Given the description of an element on the screen output the (x, y) to click on. 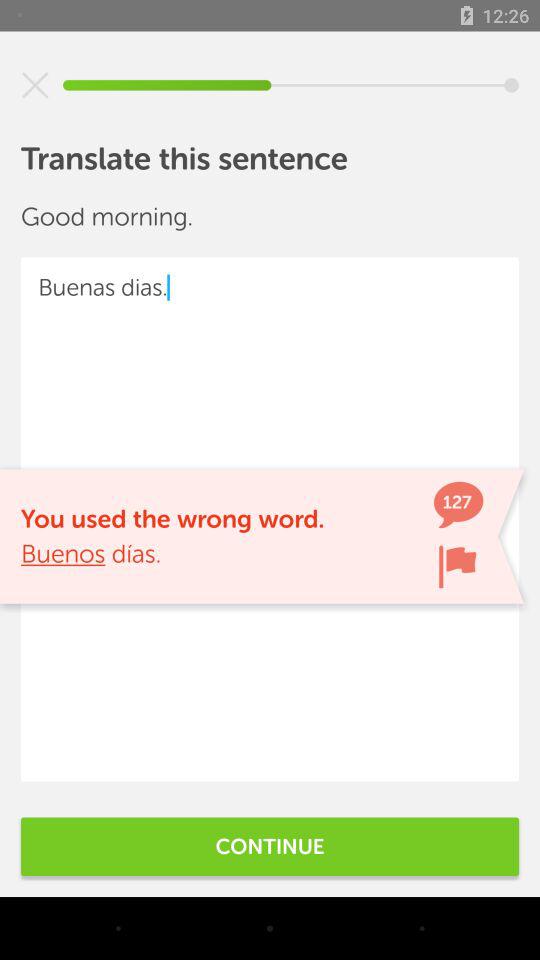
turn on the buenas dias. icon (270, 519)
